Given the description of an element on the screen output the (x, y) to click on. 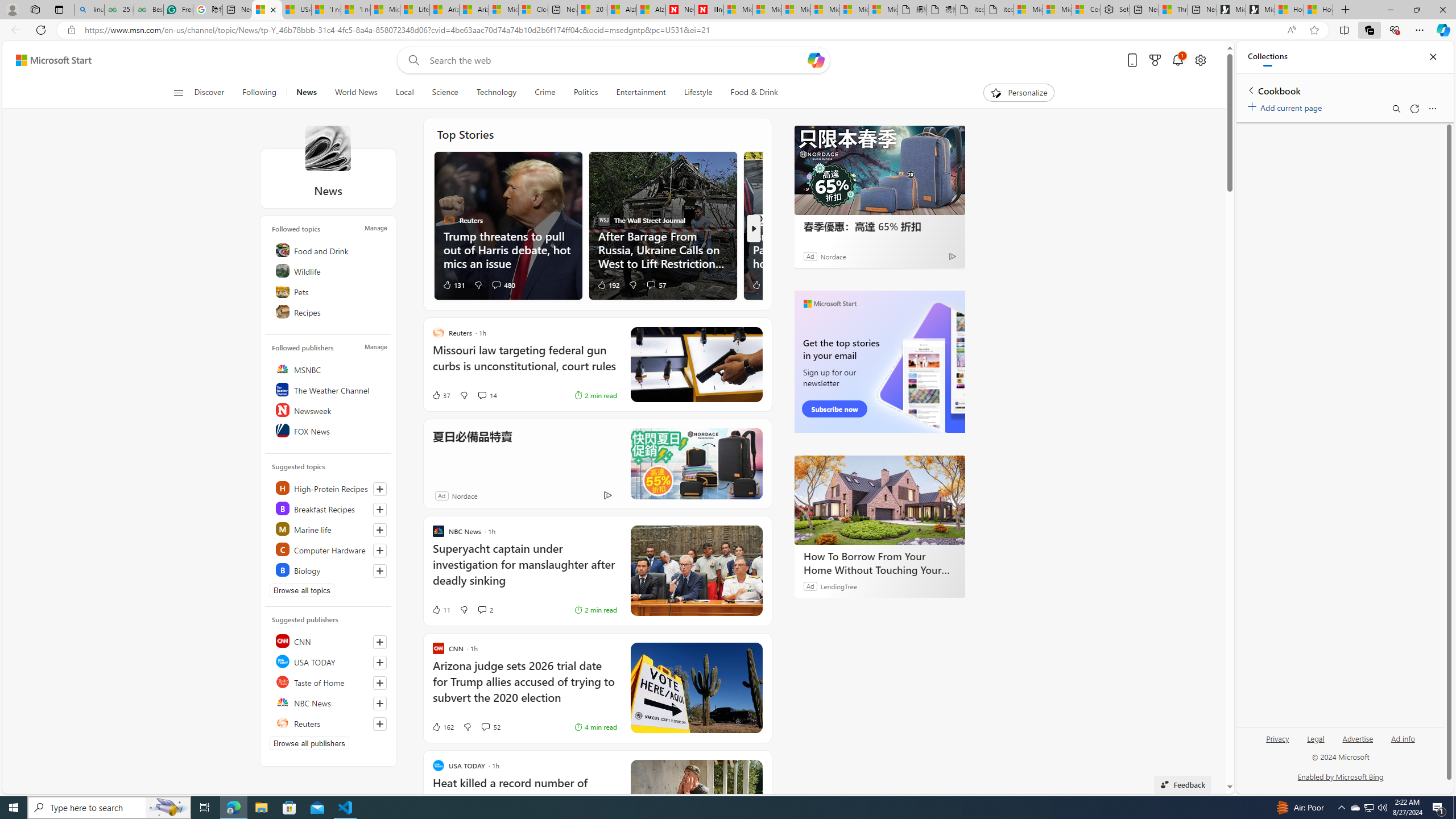
Cloud Computing Services | Microsoft Azure (533, 9)
Lifestyle - MSN (413, 9)
The Weather Channel (328, 389)
